Given the description of an element on the screen output the (x, y) to click on. 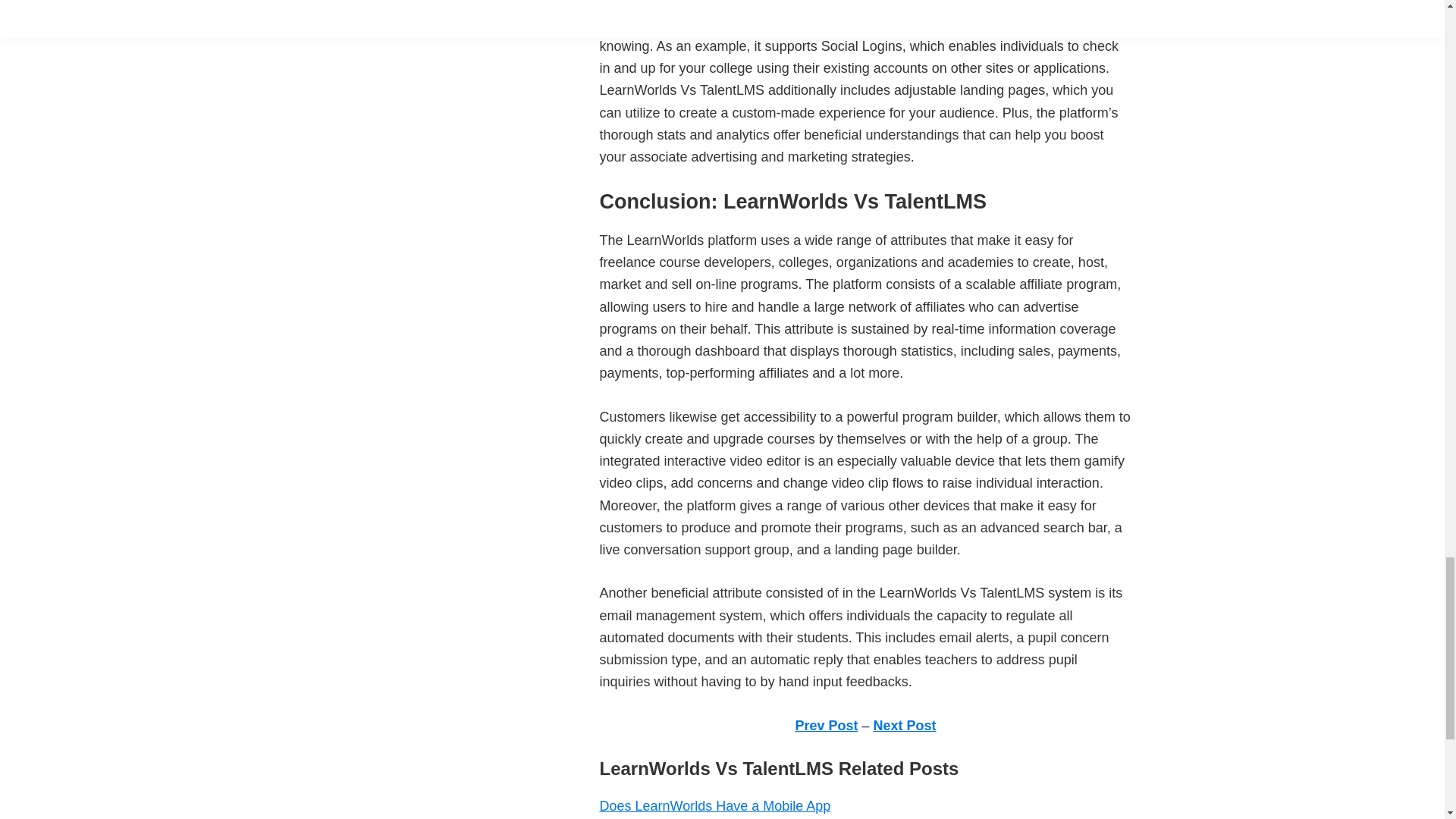
Prev Post (825, 725)
Does LearnWorlds Have a Mobile App (713, 806)
Does LearnWorlds Have a Mobile App (713, 806)
Next Post (904, 725)
